Given the description of an element on the screen output the (x, y) to click on. 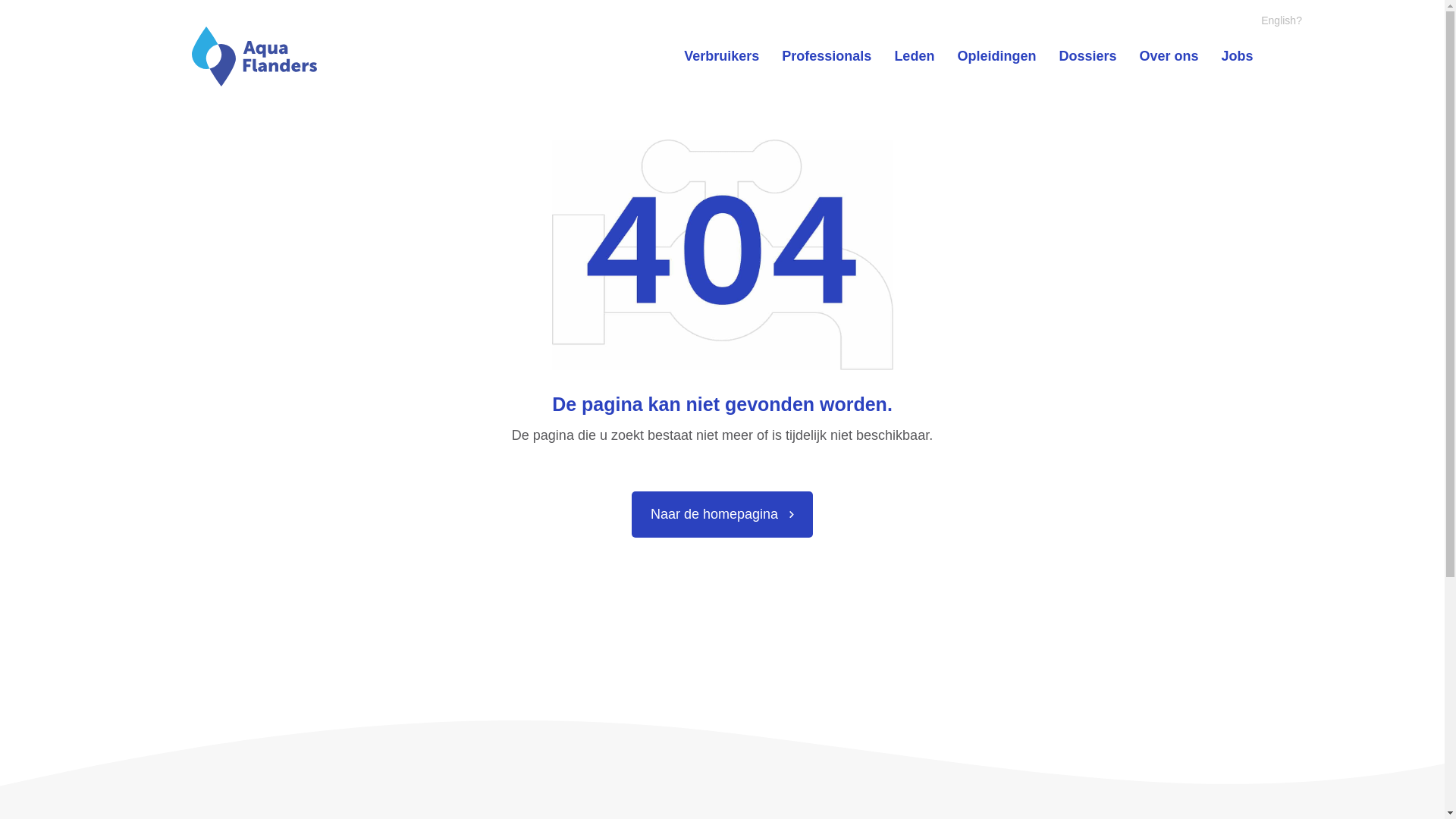
English? Element type: text (1281, 20)
Jobs Element type: text (1236, 55)
Professionals Element type: text (826, 55)
Over ons Element type: text (1168, 55)
Naar de homepagina Element type: text (721, 514)
Leden Element type: text (914, 55)
Opleidingen Element type: text (996, 55)
Dossiers Element type: text (1087, 55)
Verbruikers Element type: text (721, 55)
